Given the description of an element on the screen output the (x, y) to click on. 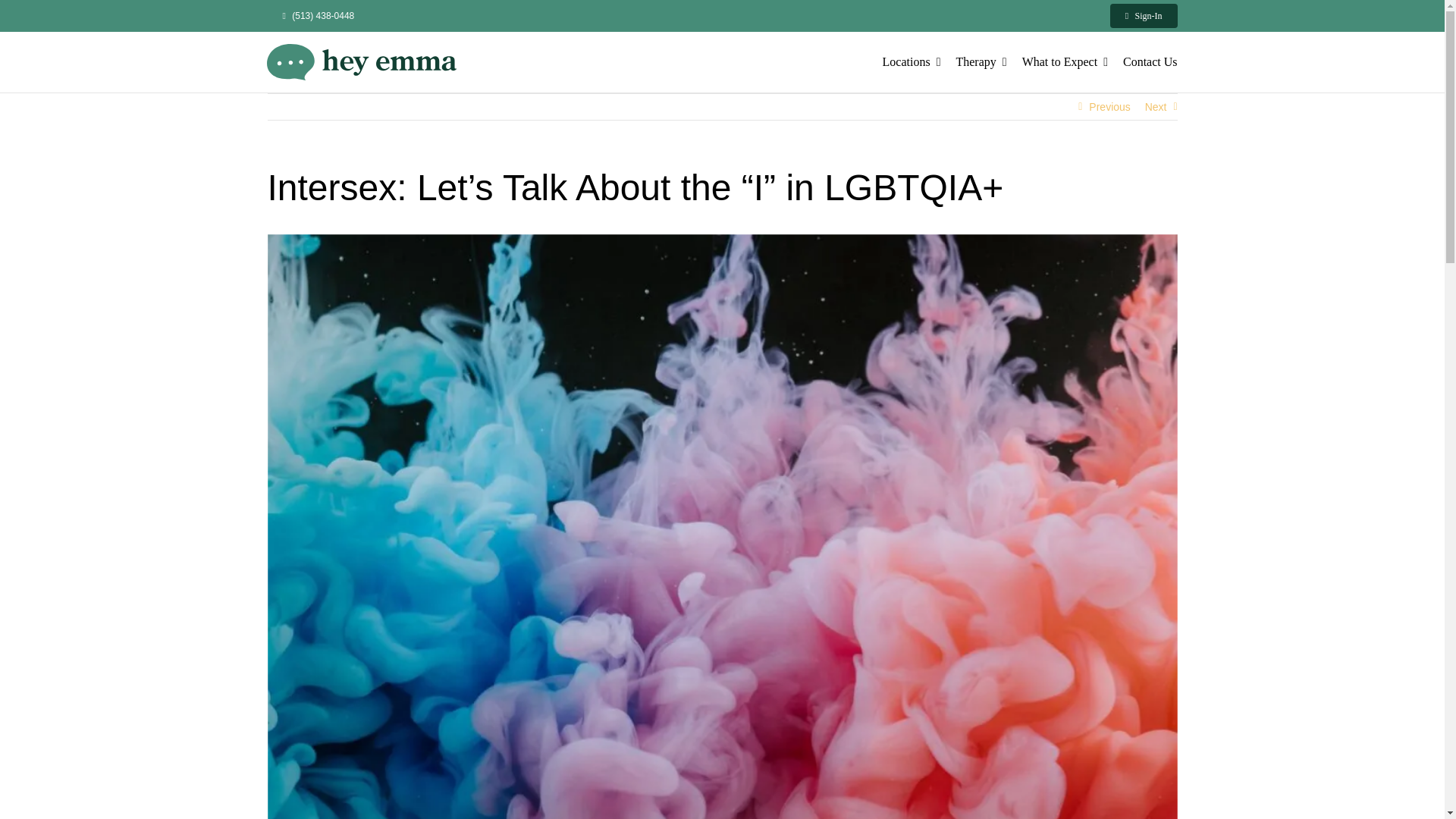
Sign-In (1143, 15)
Therapy (980, 61)
Locations (911, 61)
